Given the description of an element on the screen output the (x, y) to click on. 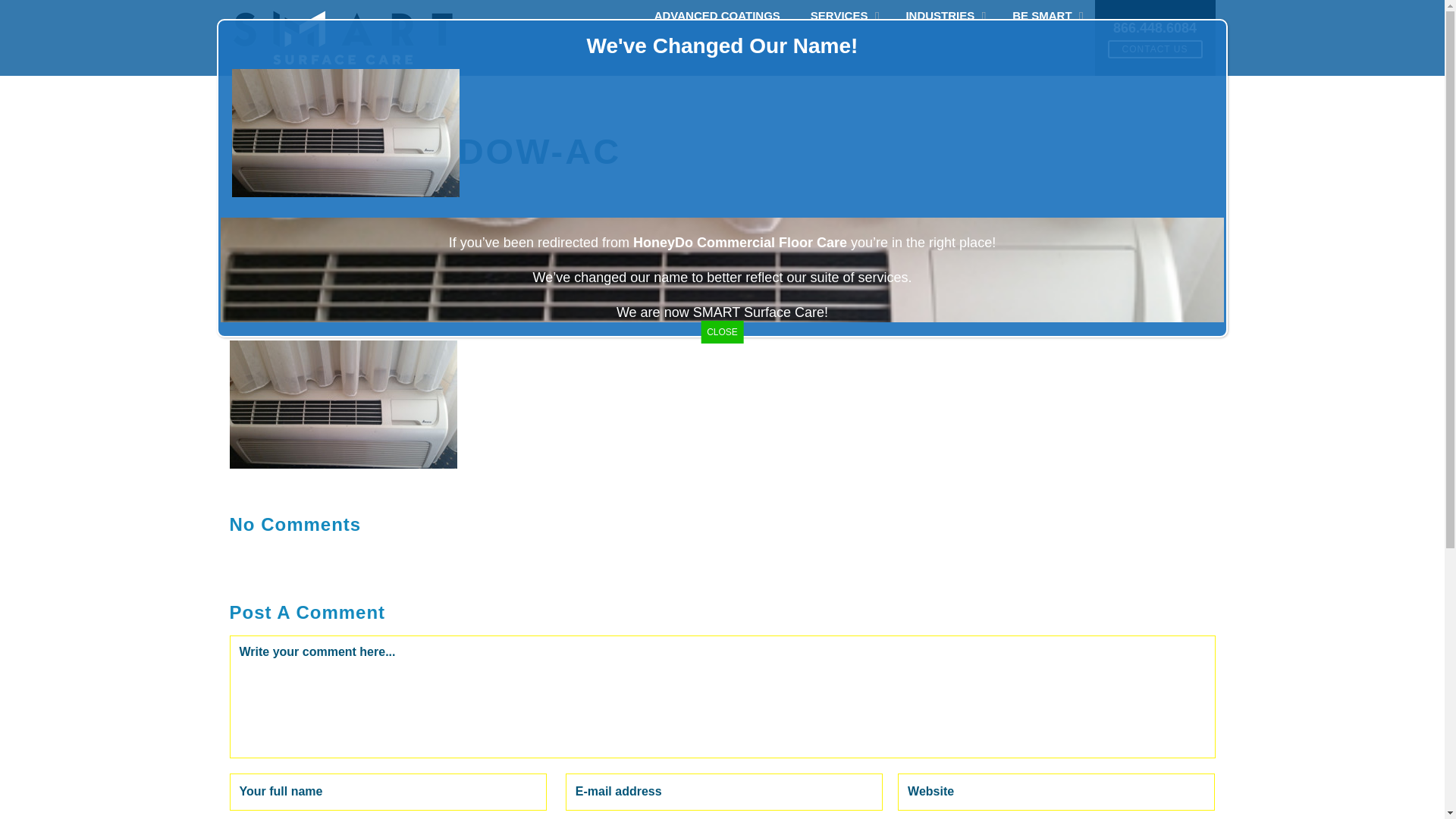
ADVANCED COATINGS (716, 15)
INDUSTRIES (943, 15)
CONTACT US (1155, 48)
Like this (576, 301)
SERVICES (842, 15)
BE SMART (1045, 15)
